Given the description of an element on the screen output the (x, y) to click on. 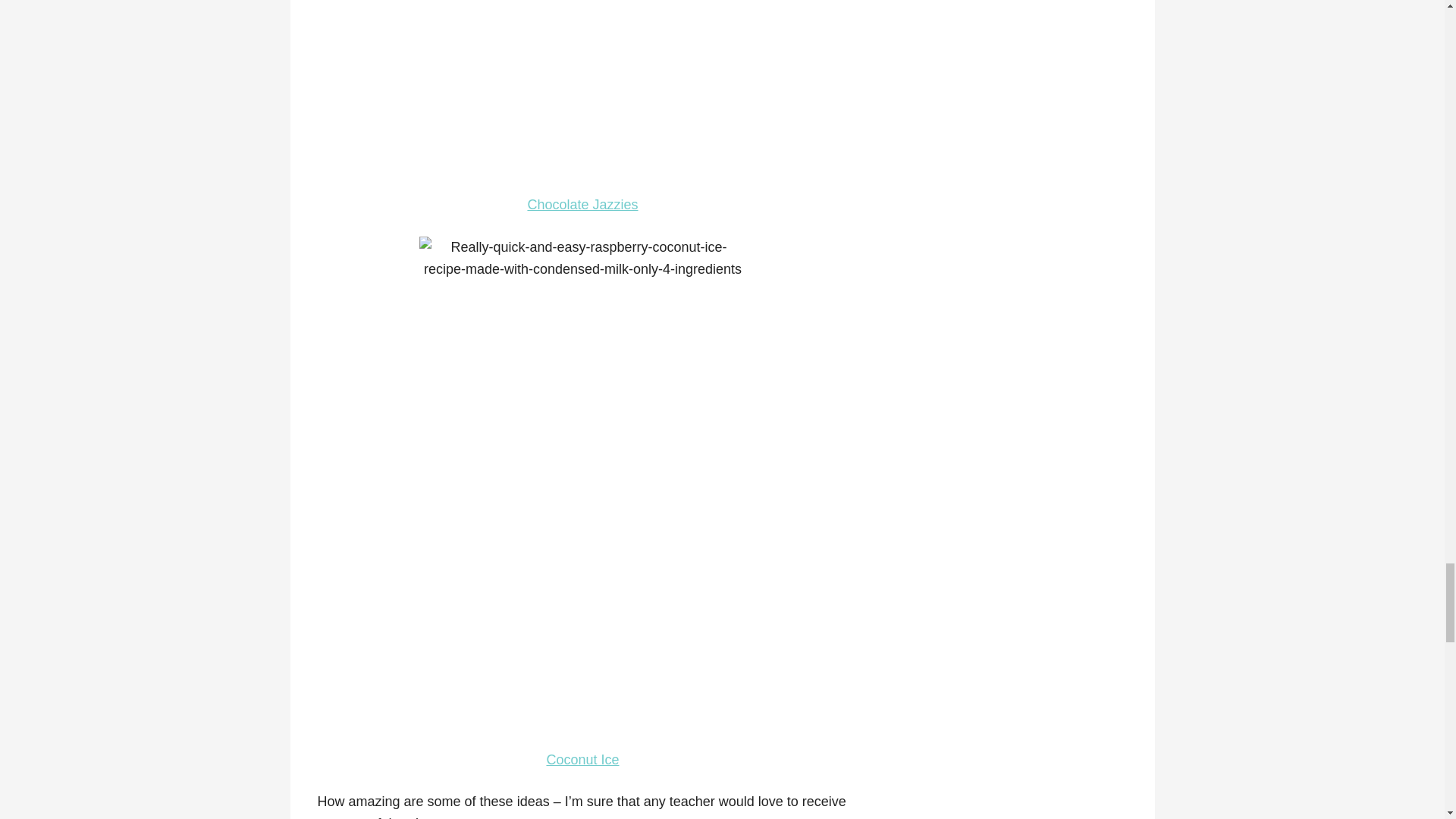
Chocolate Jazzies (582, 204)
Coconut Ice (582, 759)
